Given the description of an element on the screen output the (x, y) to click on. 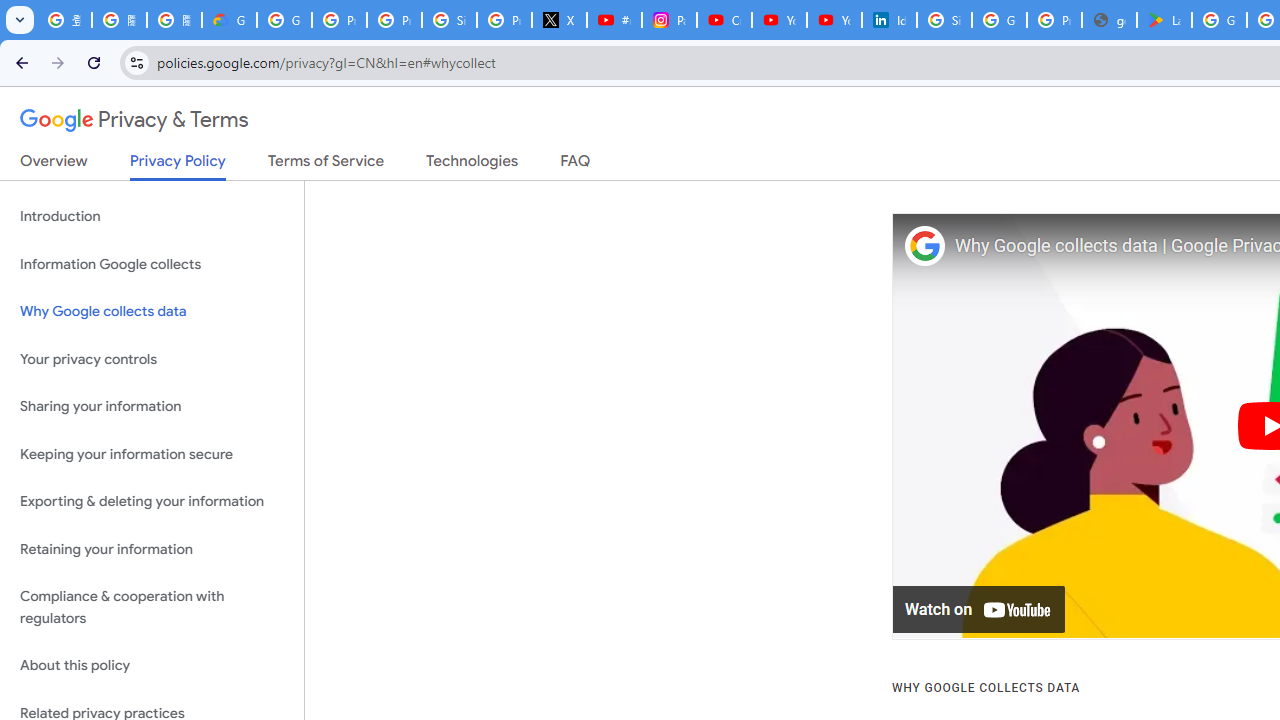
google_privacy_policy_en.pdf (1108, 20)
#nbabasketballhighlights - YouTube (614, 20)
Photo image of Google (924, 246)
Last Shelter: Survival - Apps on Google Play (1163, 20)
Information Google collects (152, 263)
Terms of Service (326, 165)
FAQ (575, 165)
Compliance & cooperation with regulators (152, 607)
Identity verification via Persona | LinkedIn Help (888, 20)
